Given the description of an element on the screen output the (x, y) to click on. 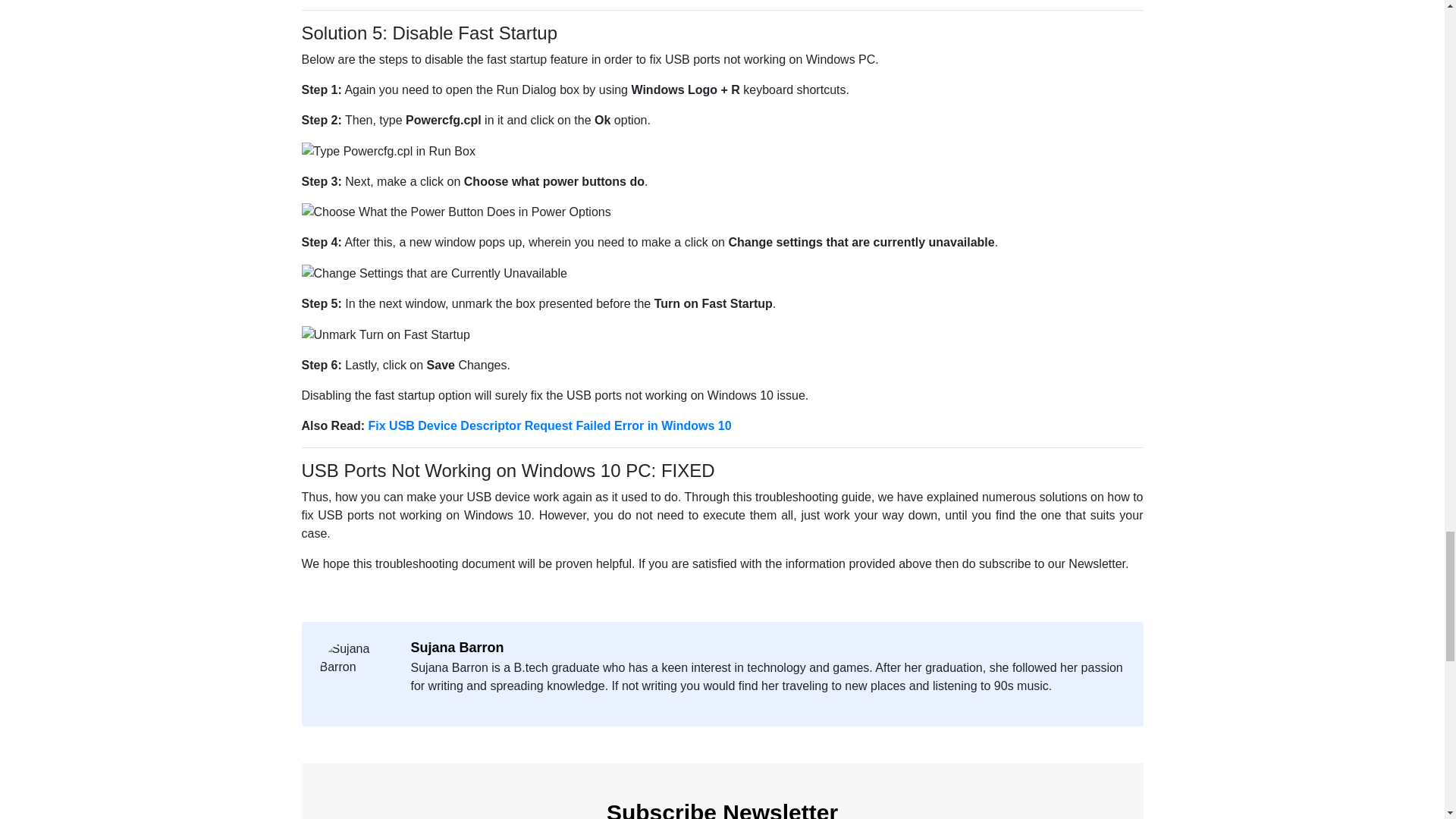
Type Powercfg.cpl in Run Box (388, 151)
Fix USB Device Descriptor Request Failed Error in Windows 10 (550, 425)
Choose What the Power Button Does in Power Options (456, 212)
Sujana Barron (771, 647)
Unmark Turn on Fast Startup (385, 334)
Change Settings that are Currently Unavailable (434, 273)
